Given the description of an element on the screen output the (x, y) to click on. 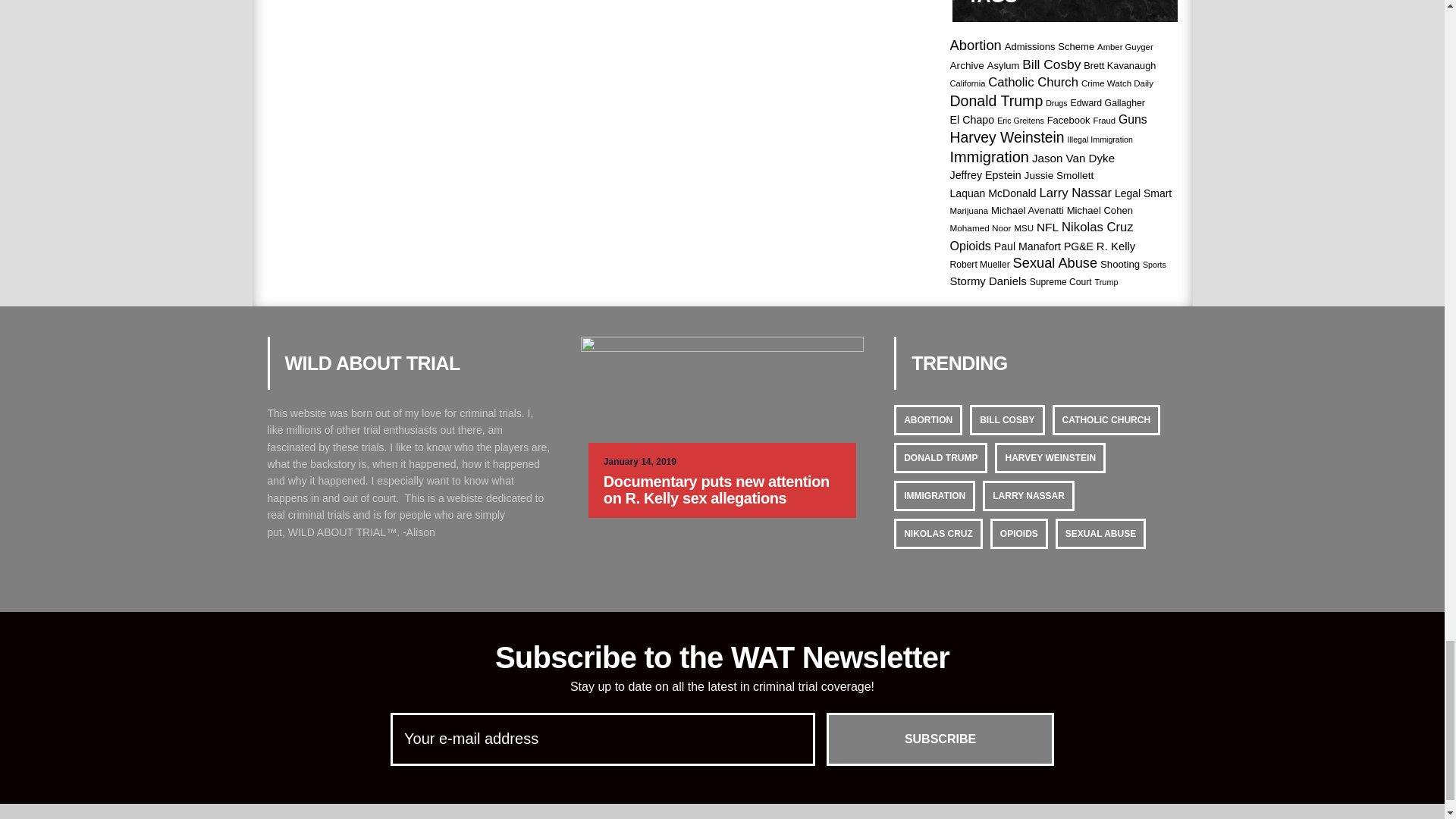
SUBSCRIBE (940, 738)
